Given the description of an element on the screen output the (x, y) to click on. 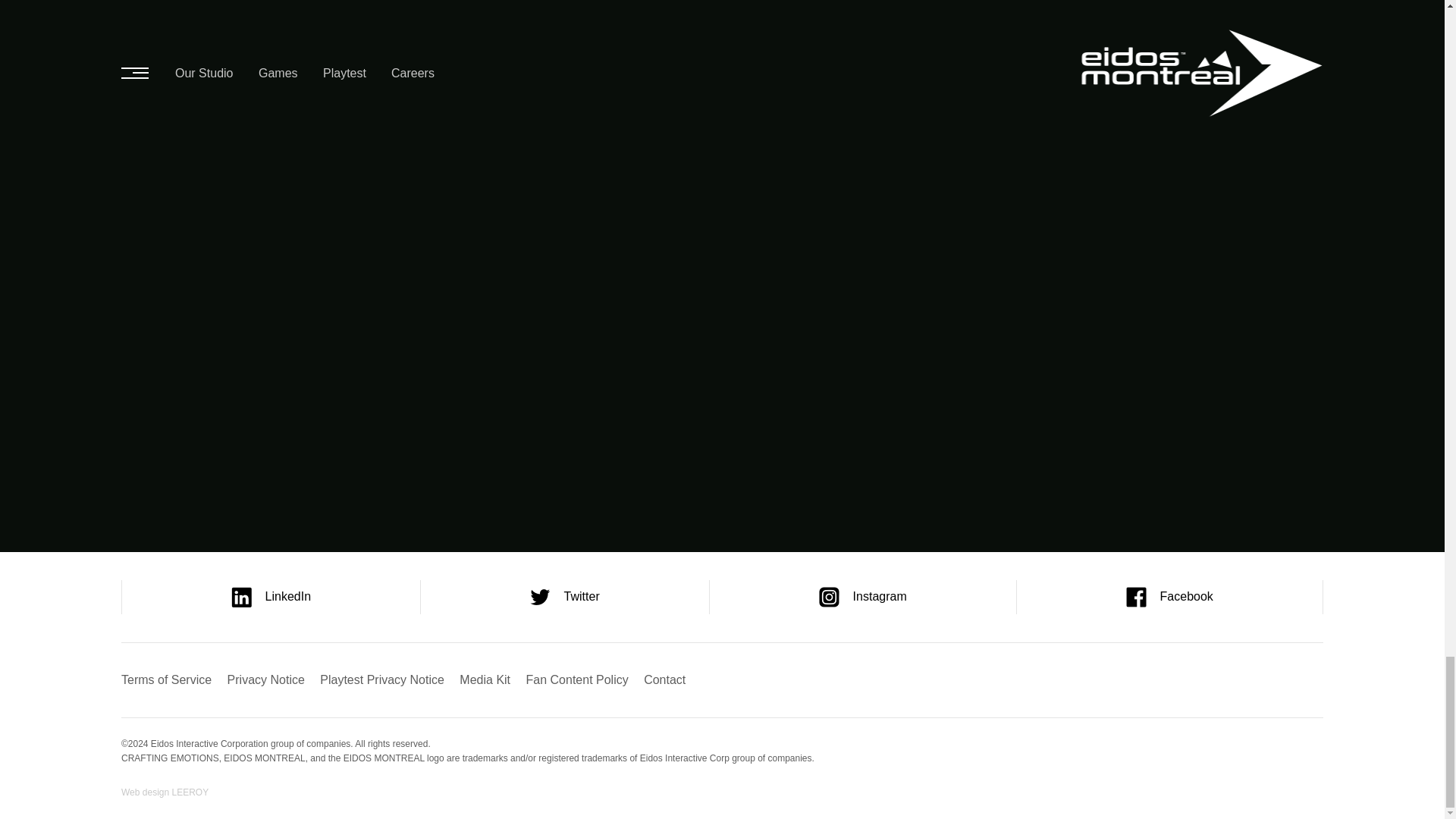
Fan Content Policy (576, 680)
Facebook (1169, 596)
Media Kit (485, 680)
Twitter (564, 596)
Terms of Service (165, 680)
LinkedIn (271, 596)
Instagram (862, 596)
Playtest Privacy Notice (382, 680)
Privacy Notice (265, 680)
